Given the description of an element on the screen output the (x, y) to click on. 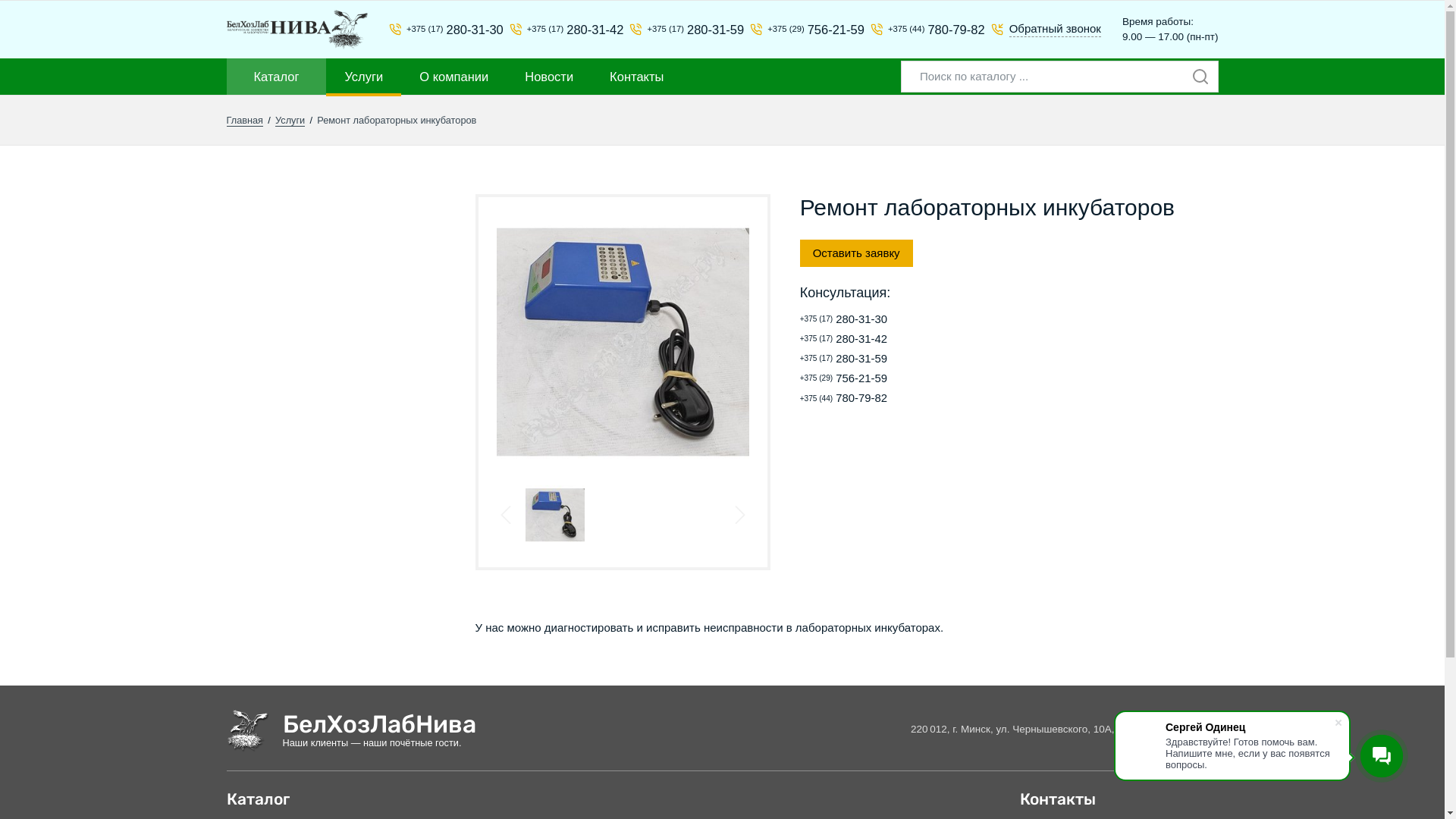
+375 (44)
780-79-82 Element type: text (900, 398)
+375 (17)
280-31-59 Element type: text (680, 29)
+375 (17)
280-31-59 Element type: text (900, 358)
+375 (29)
756-21-59 Element type: text (800, 29)
+375 (17)
280-31-42 Element type: text (560, 29)
+375 (17)
280-31-30 Element type: text (900, 319)
+375 (17)
280-31-30 Element type: text (440, 29)
+375 (29)
756-21-59 Element type: text (900, 378)
+375 (17)
280-31-42 Element type: text (900, 339)
+375 (44)
780-79-82 Element type: text (921, 29)
